Given the description of an element on the screen output the (x, y) to click on. 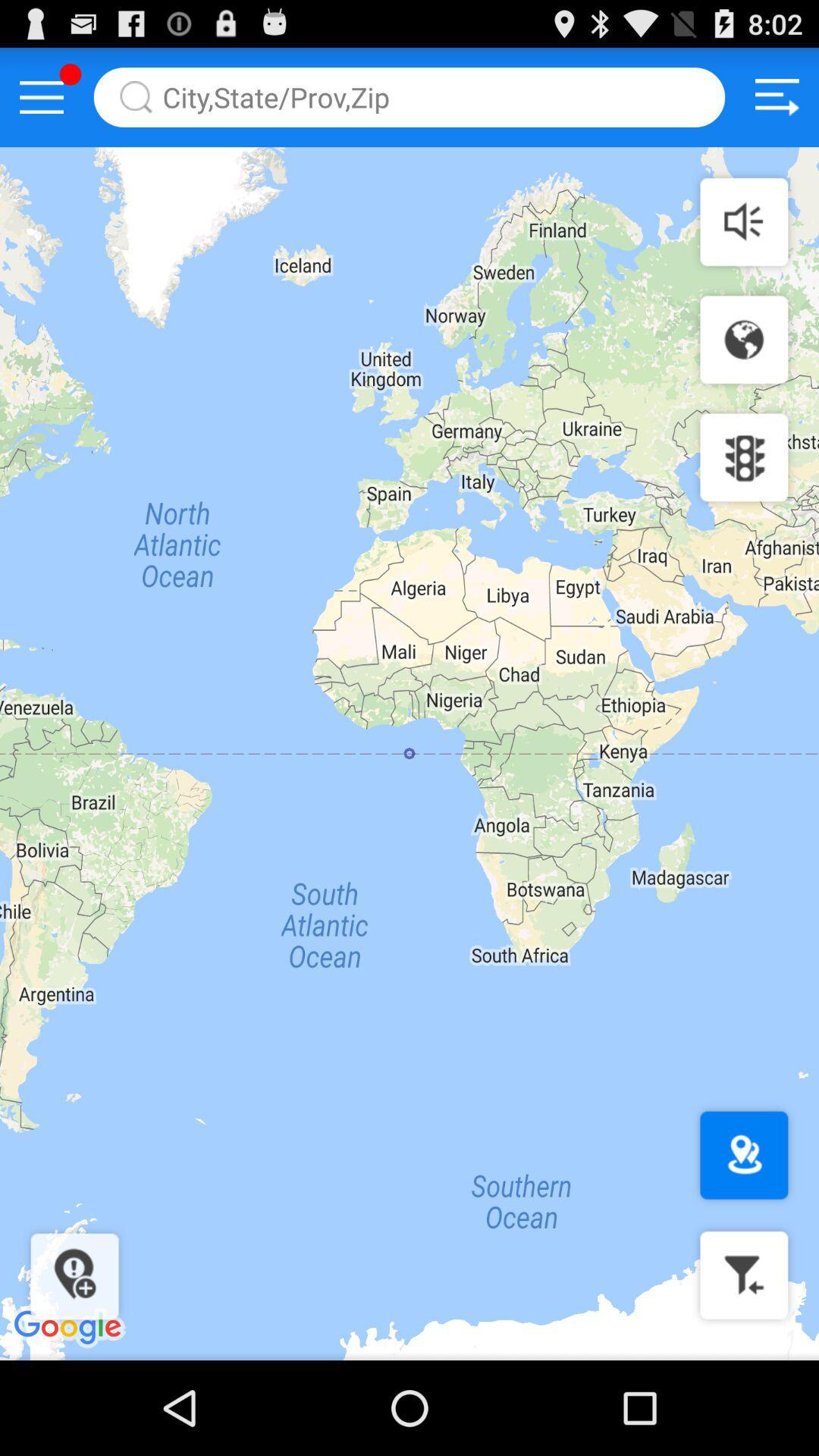
turn off the item at the top (409, 97)
